Given the description of an element on the screen output the (x, y) to click on. 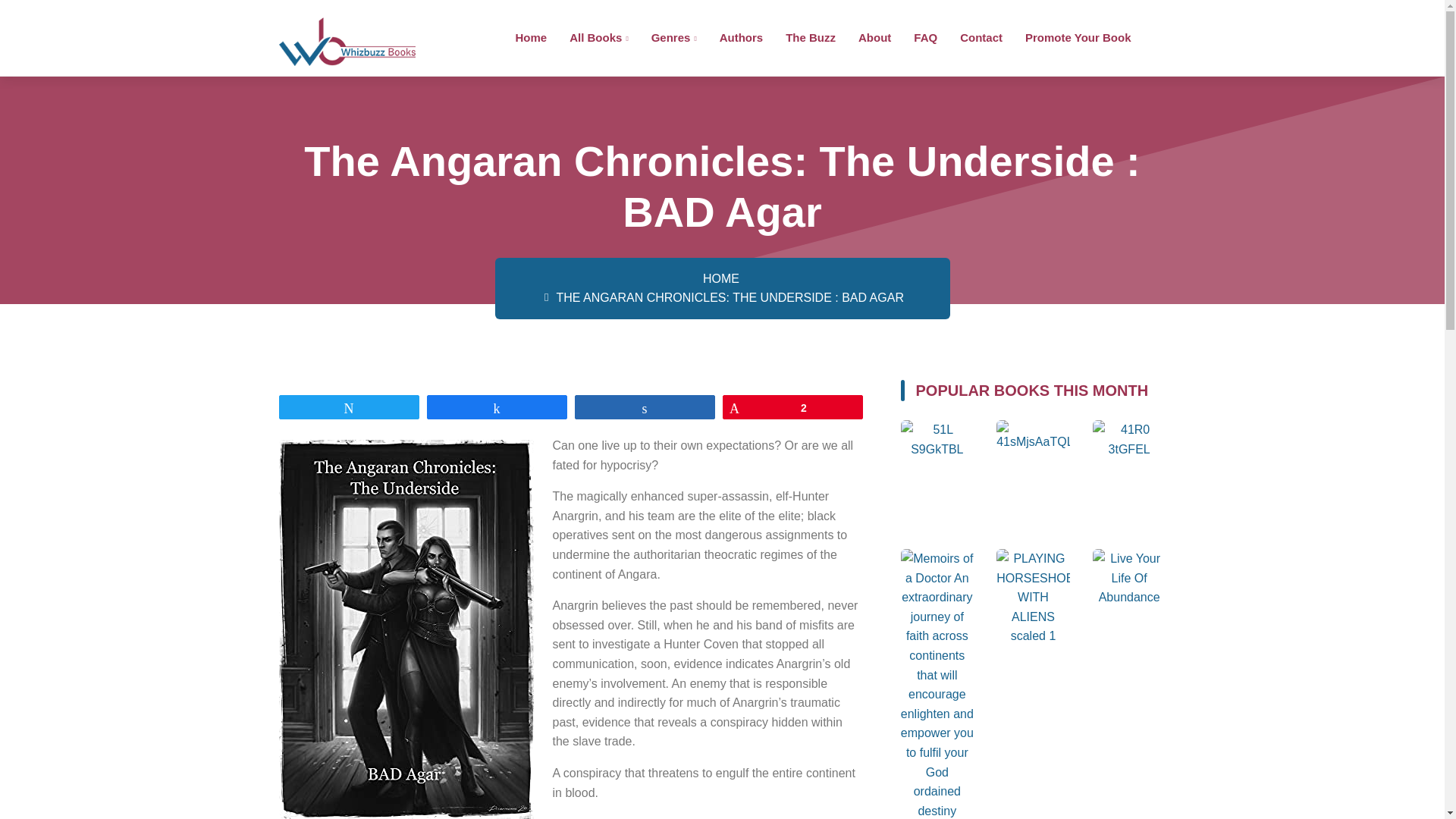
All Books (598, 37)
Home (530, 37)
Genres (673, 37)
Authors (740, 37)
